Given the description of an element on the screen output the (x, y) to click on. 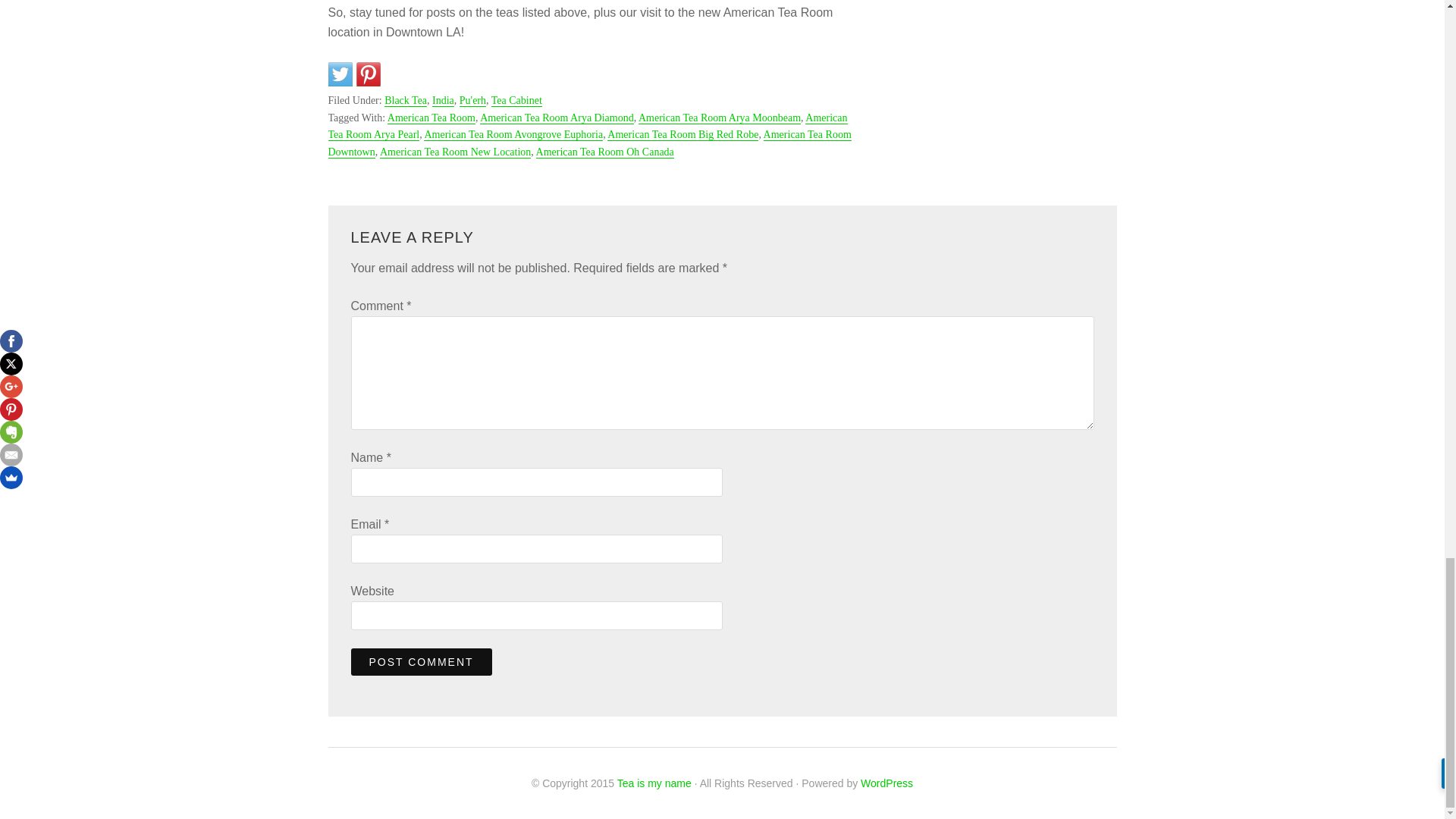
Follow us on Twitter (339, 74)
American Tea Room (431, 118)
India (443, 101)
American Tea Room Downtown (588, 143)
Post Comment (421, 661)
American Tea Room Avongrove Euphoria (512, 134)
American Tea Room Big Red Robe (682, 134)
American Tea Room Oh Canada (604, 152)
American Tea Room Arya Pearl (587, 126)
American Tea Room New Location (455, 152)
Tea Cabinet (516, 101)
Pu'erh (473, 101)
Our board on Pinterest (368, 74)
American Tea Room Arya Diamond (556, 118)
Black Tea (405, 101)
